Given the description of an element on the screen output the (x, y) to click on. 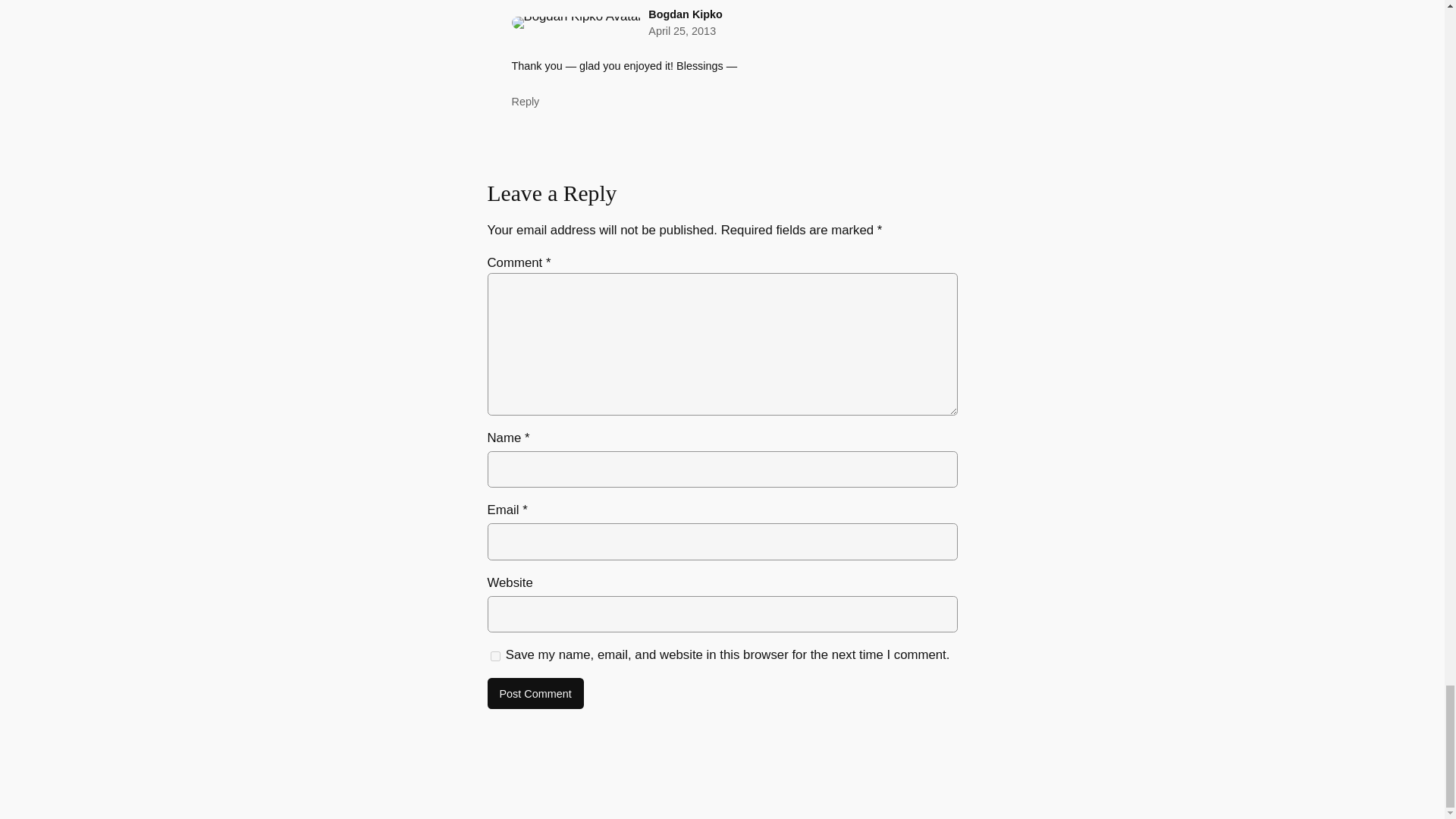
Post Comment (534, 694)
Bogdan Kipko (684, 14)
Reply (524, 101)
yes (494, 656)
April 25, 2013 (681, 30)
